Given the description of an element on the screen output the (x, y) to click on. 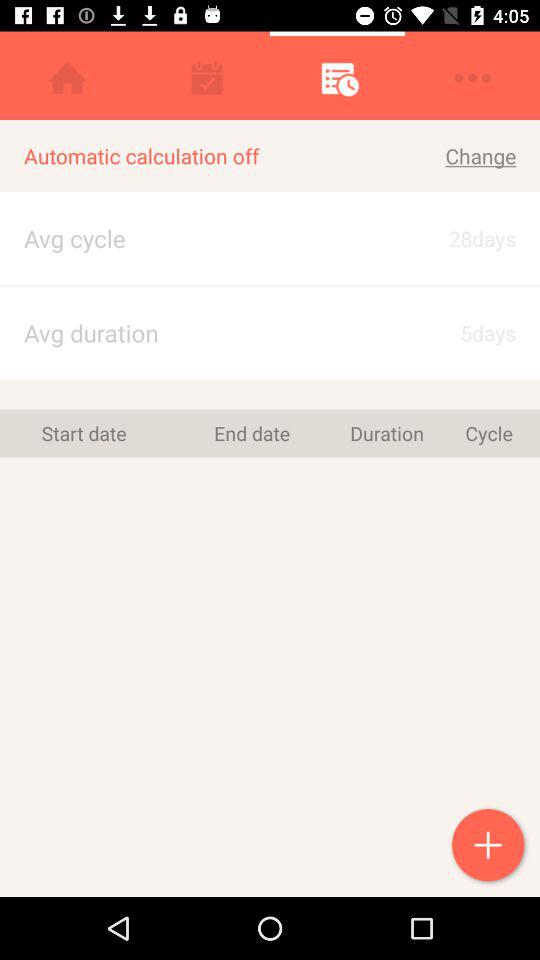
click the item to the right of the automatic calculation off item (456, 156)
